Given the description of an element on the screen output the (x, y) to click on. 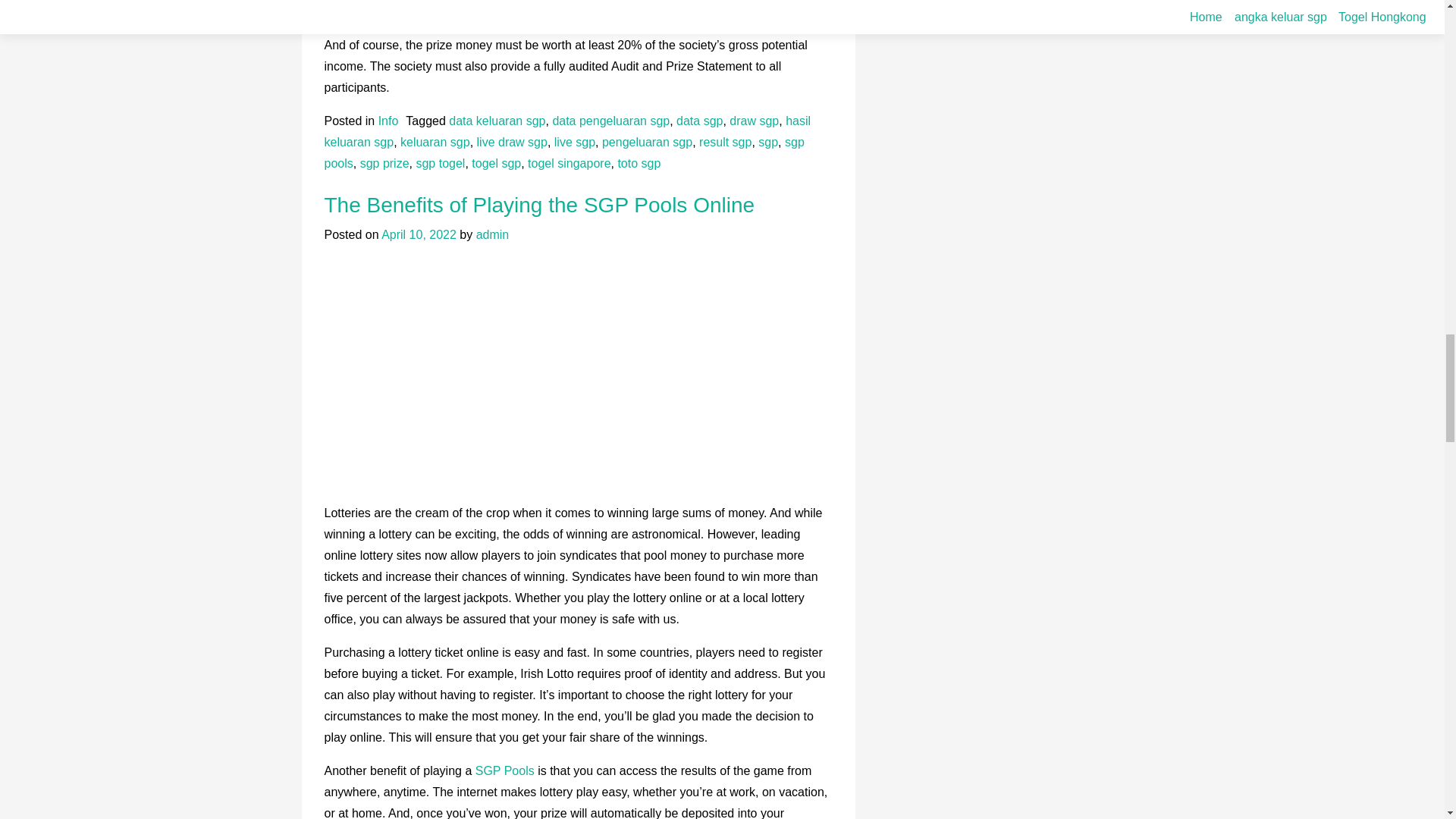
data keluaran sgp (496, 120)
data pengeluaran sgp (610, 120)
live sgp (574, 141)
keluaran sgp (435, 141)
hasil keluaran sgp (567, 131)
togel sgp (496, 163)
draw sgp (753, 120)
sgp togel (439, 163)
data sgp (699, 120)
sgp (767, 141)
